Given the description of an element on the screen output the (x, y) to click on. 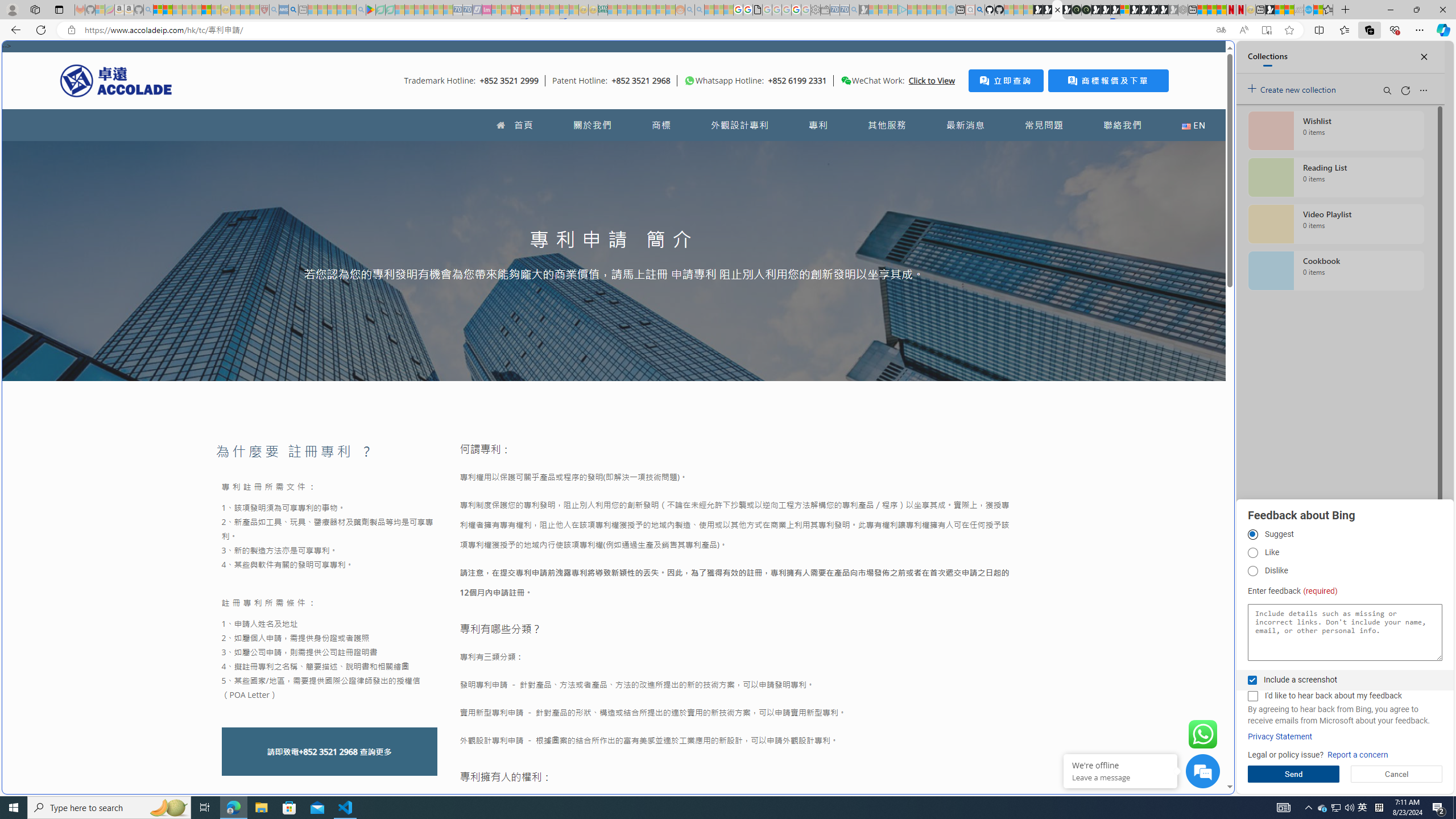
Settings - Sleeping (815, 9)
Accolade IP HK Logo (116, 80)
Play Free Online Games | Games from Microsoft Start (1144, 9)
Home | Sky Blue Bikes - Sky Blue Bikes (1118, 242)
